Given the description of an element on the screen output the (x, y) to click on. 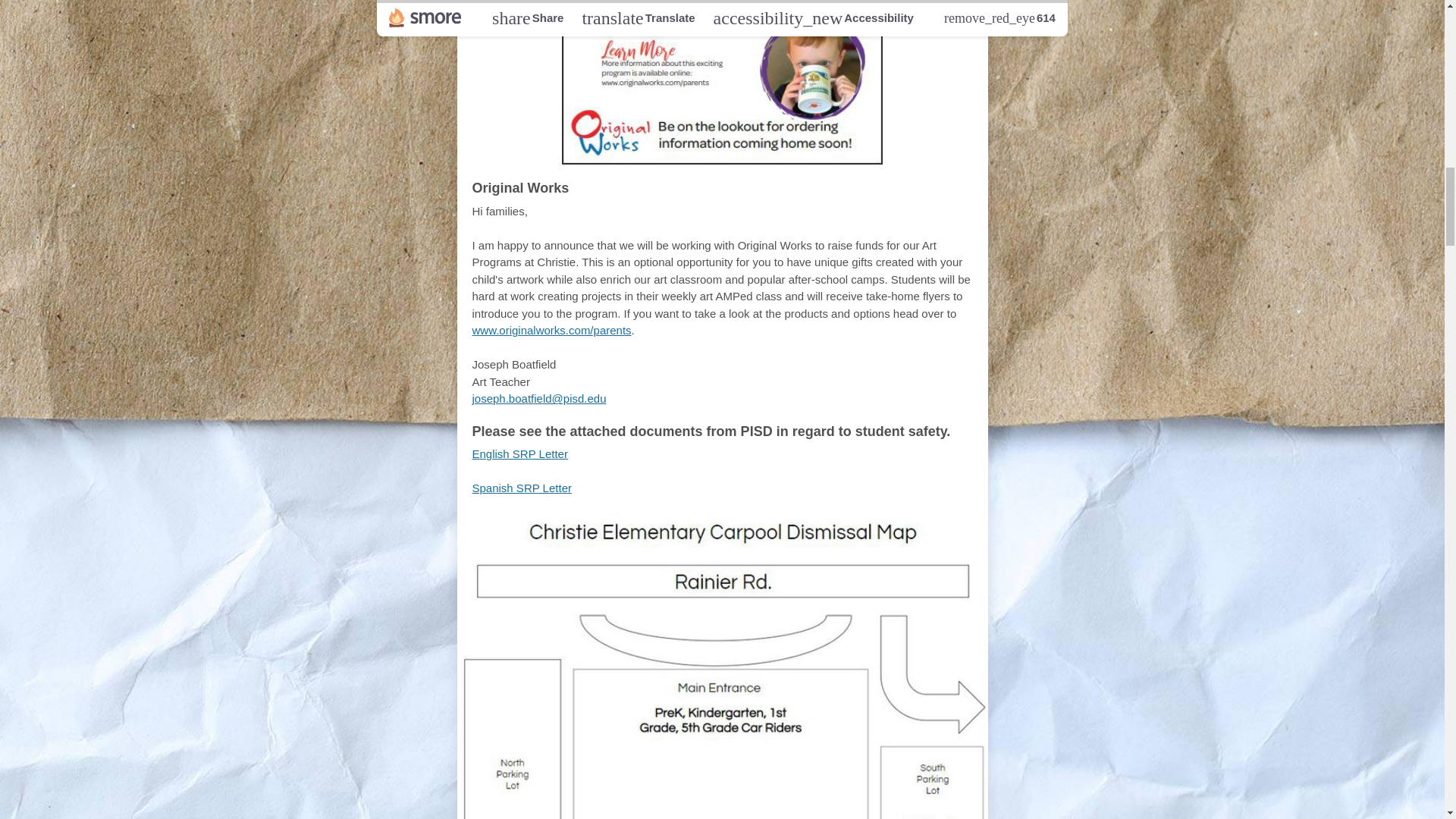
English SRP Letter (519, 453)
Spanish SRP Letter (520, 487)
